Given the description of an element on the screen output the (x, y) to click on. 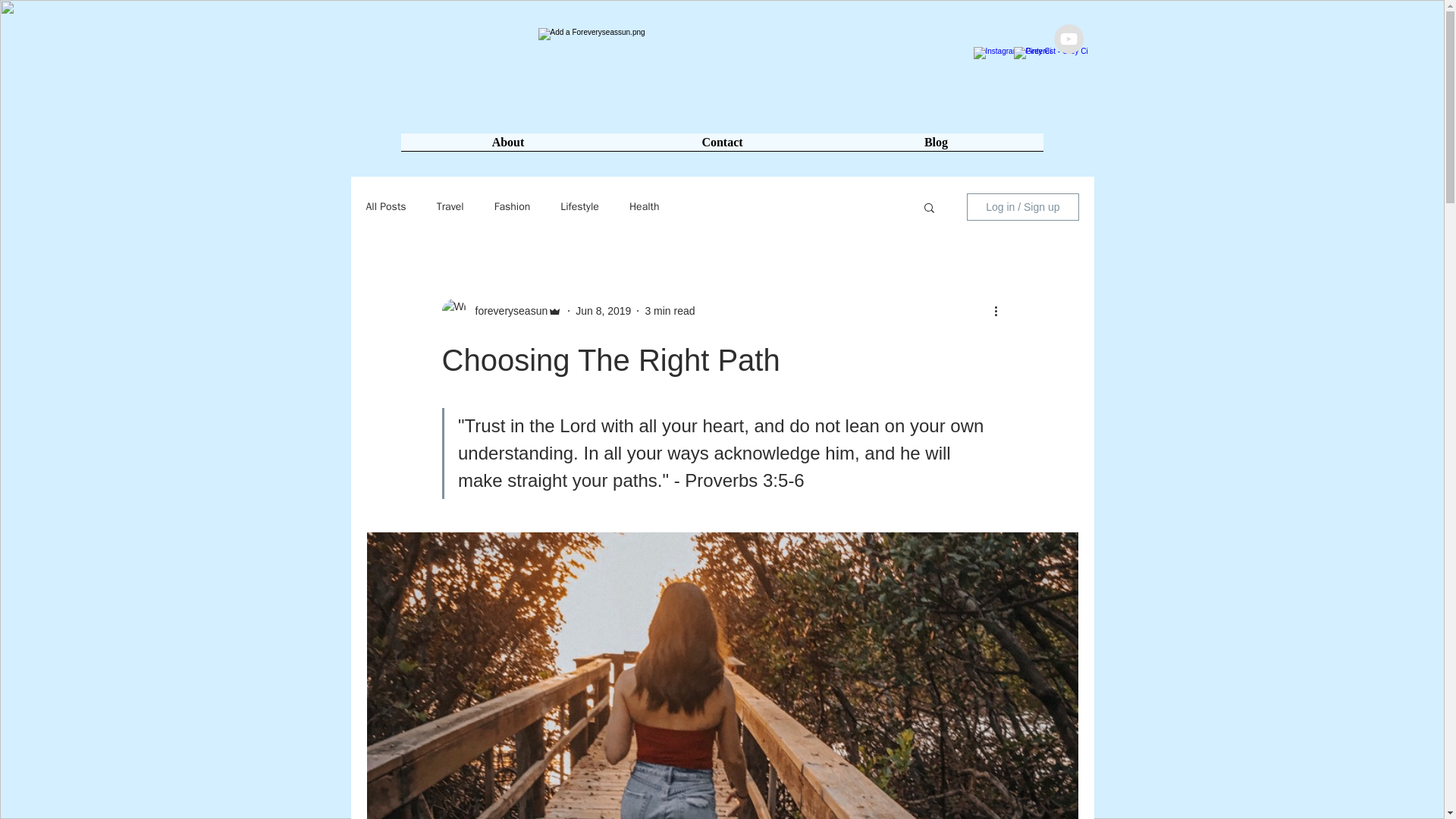
3 min read (669, 310)
All Posts (385, 206)
Fashion (513, 206)
Health (643, 206)
Blog (936, 146)
Contact (722, 146)
Lifestyle (579, 206)
Travel (450, 206)
About (507, 146)
Jun 8, 2019 (602, 310)
foreveryseasun (506, 311)
